Given the description of an element on the screen output the (x, y) to click on. 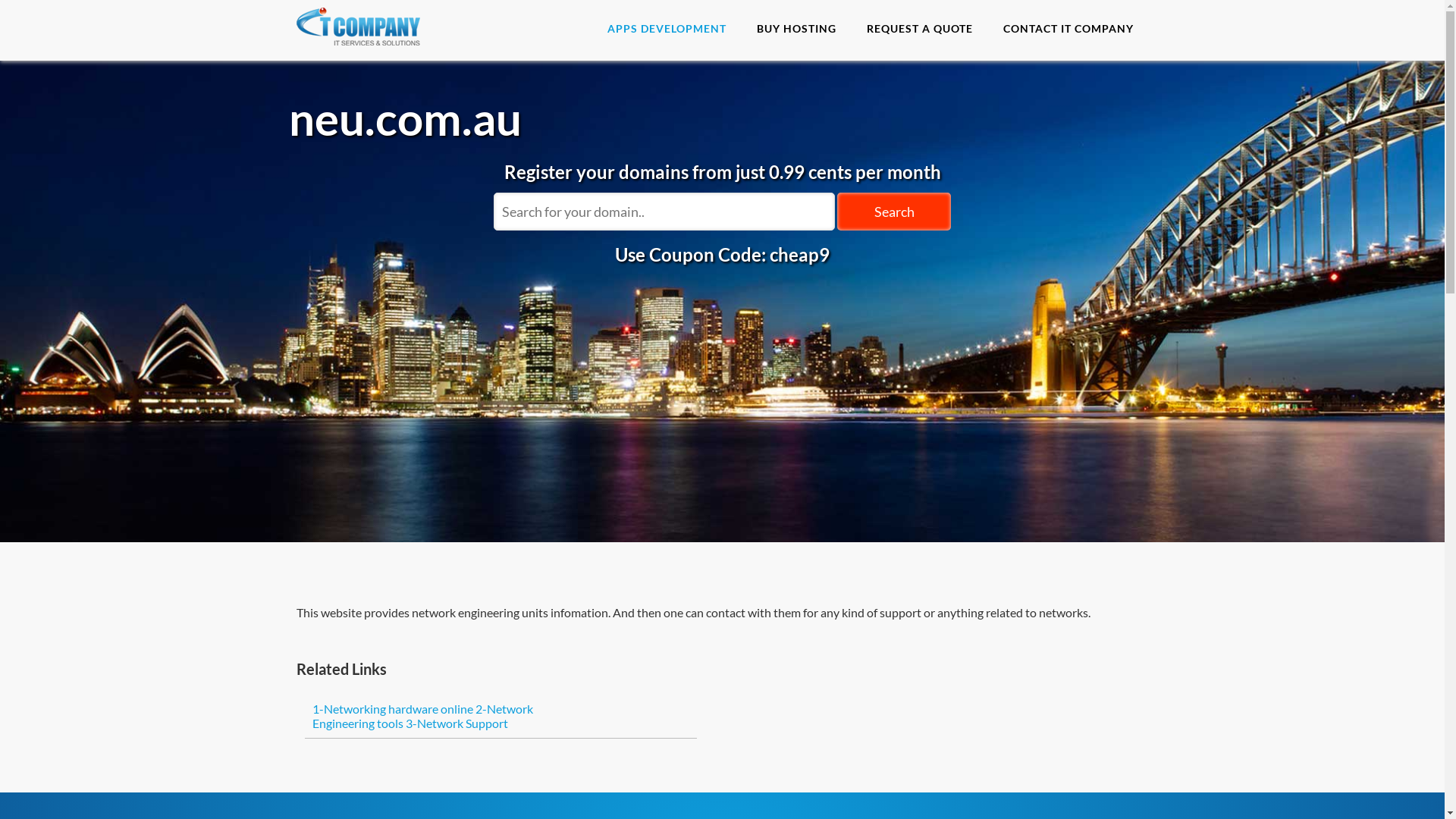
BUY HOSTING Element type: text (796, 28)
CONTACT IT COMPANY Element type: text (1067, 28)
Search Element type: text (893, 211)
REQUEST A QUOTE Element type: text (918, 28)
APPS DEVELOPMENT Element type: text (665, 28)
